Given the description of an element on the screen output the (x, y) to click on. 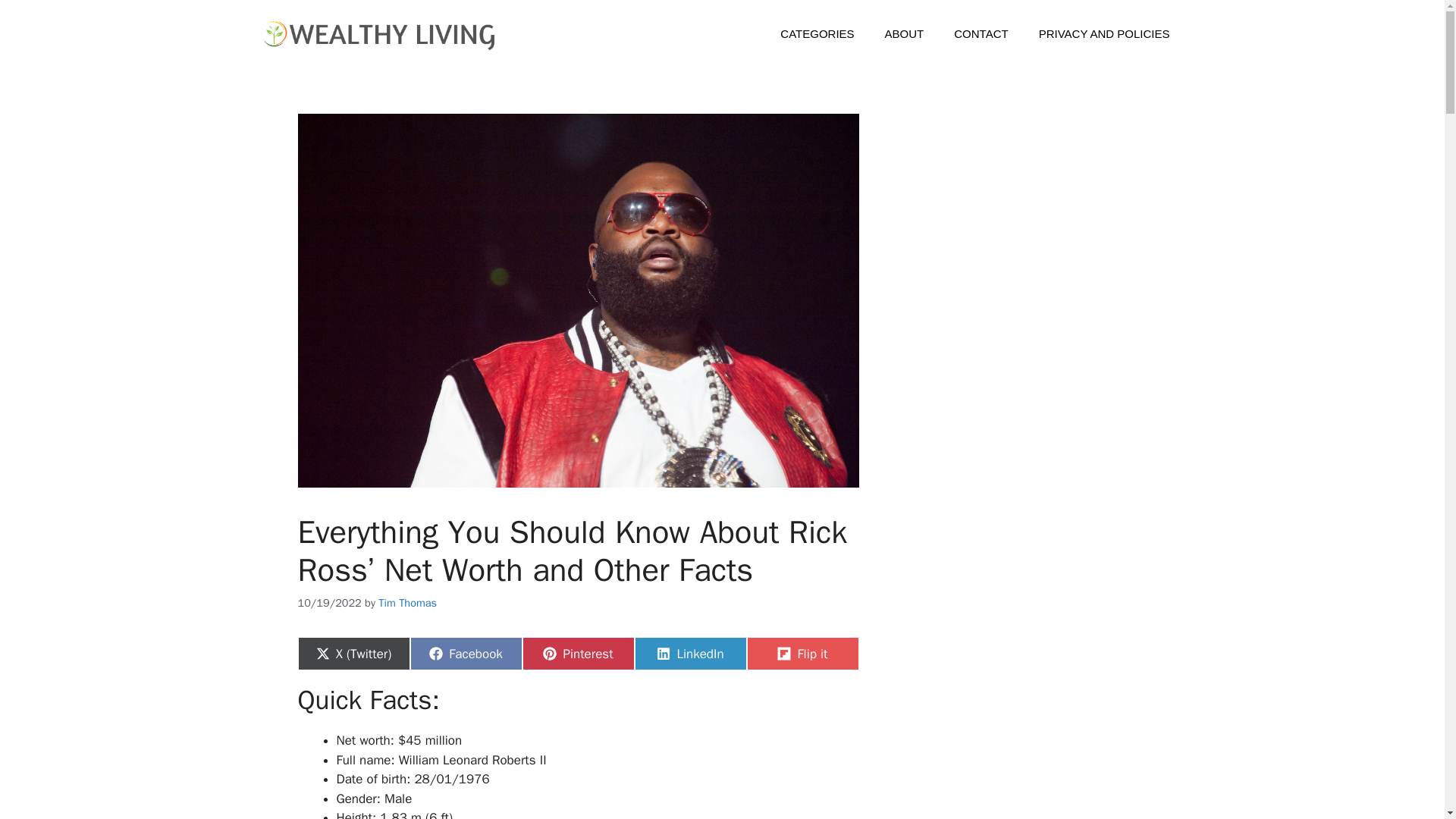
LinkedIn (689, 653)
PRIVACY AND POLICIES (1104, 34)
ABOUT (904, 34)
Tim Thomas (407, 602)
Facebook (465, 653)
CATEGORIES (817, 34)
View all posts by Tim Thomas (407, 602)
CONTACT (981, 34)
Pinterest (577, 653)
